Given the description of an element on the screen output the (x, y) to click on. 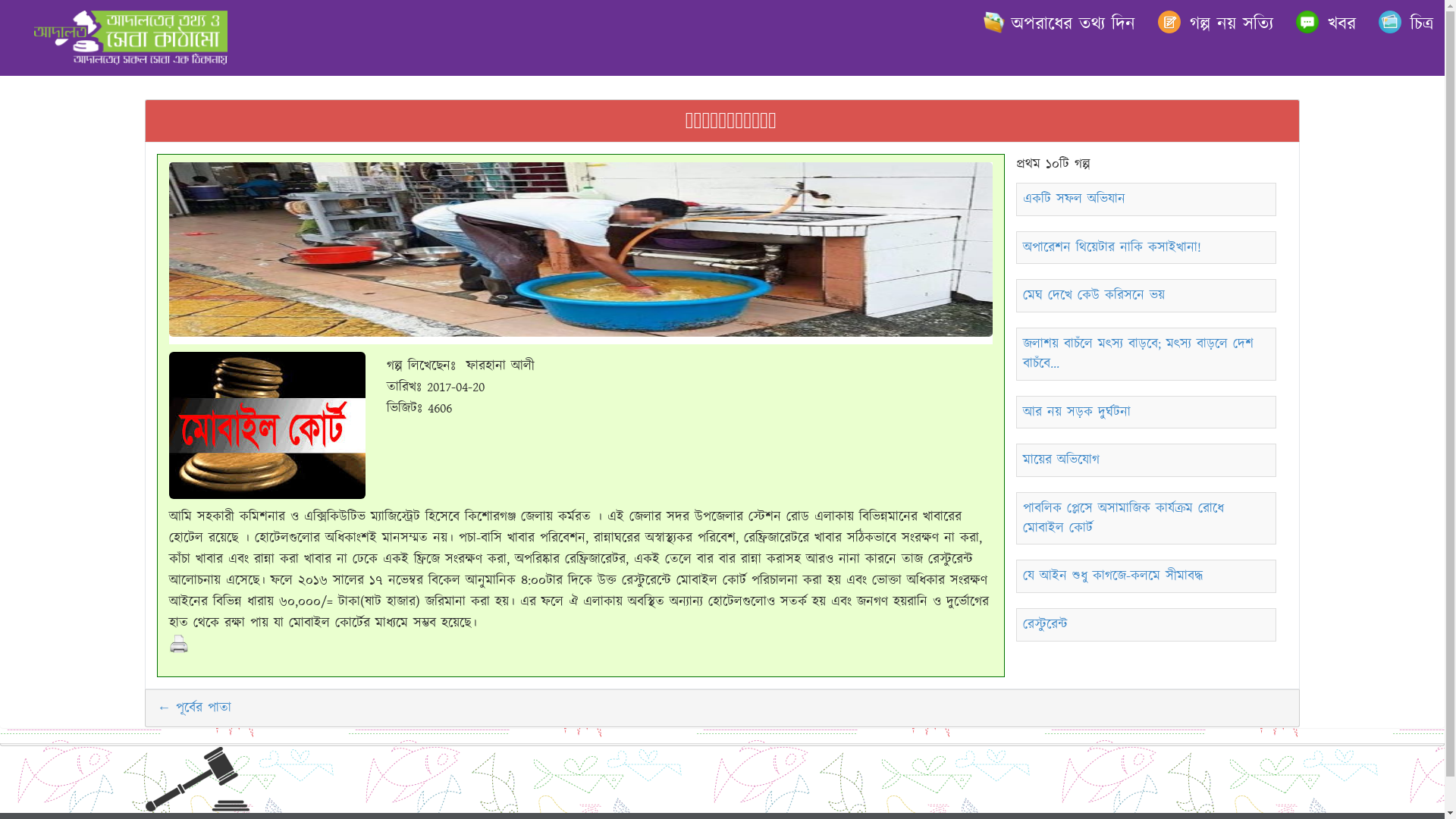
Client Logo Element type: hover (267, 424)
